Given the description of an element on the screen output the (x, y) to click on. 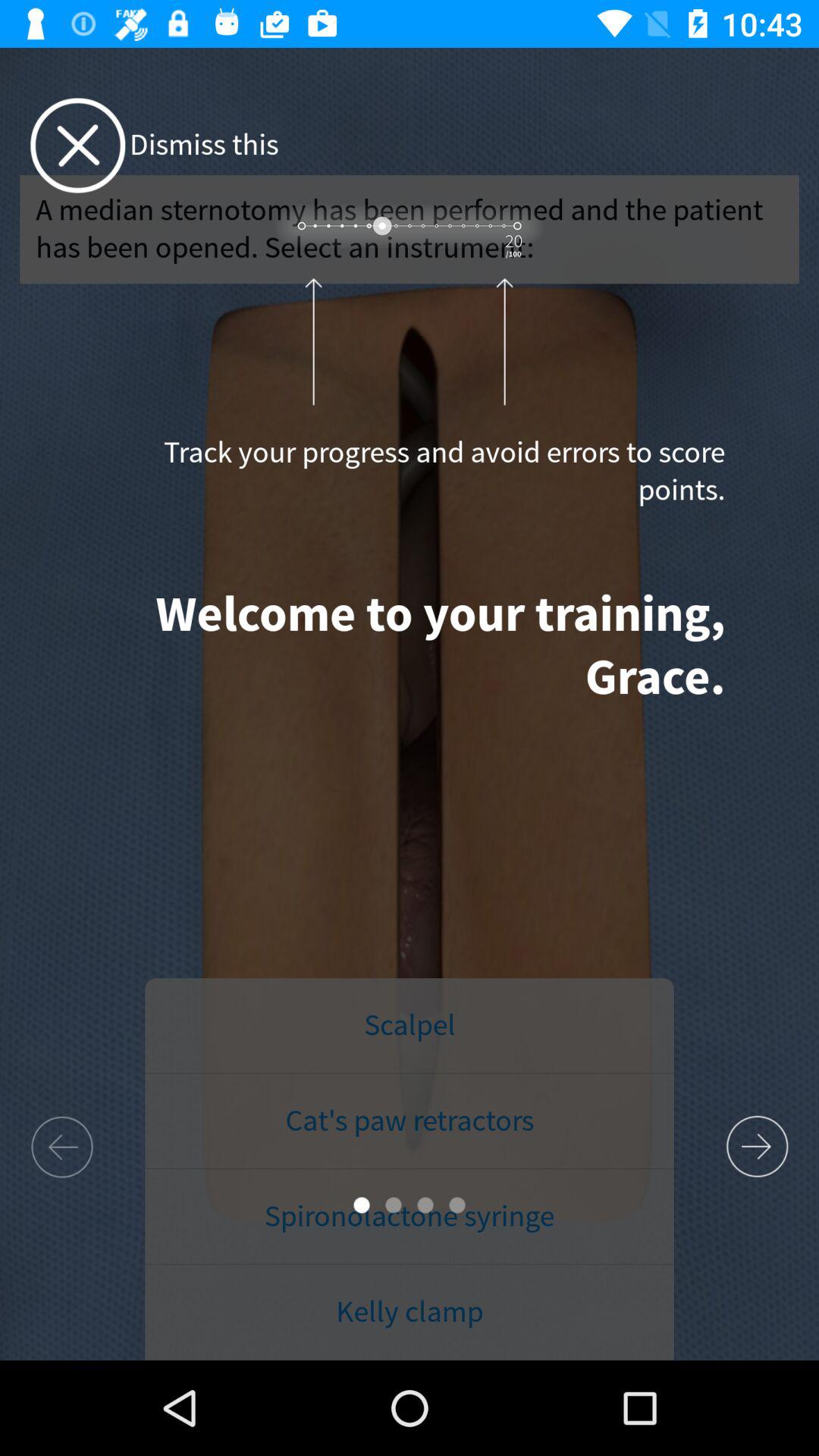
swipe until the scalpel (409, 1025)
